Given the description of an element on the screen output the (x, y) to click on. 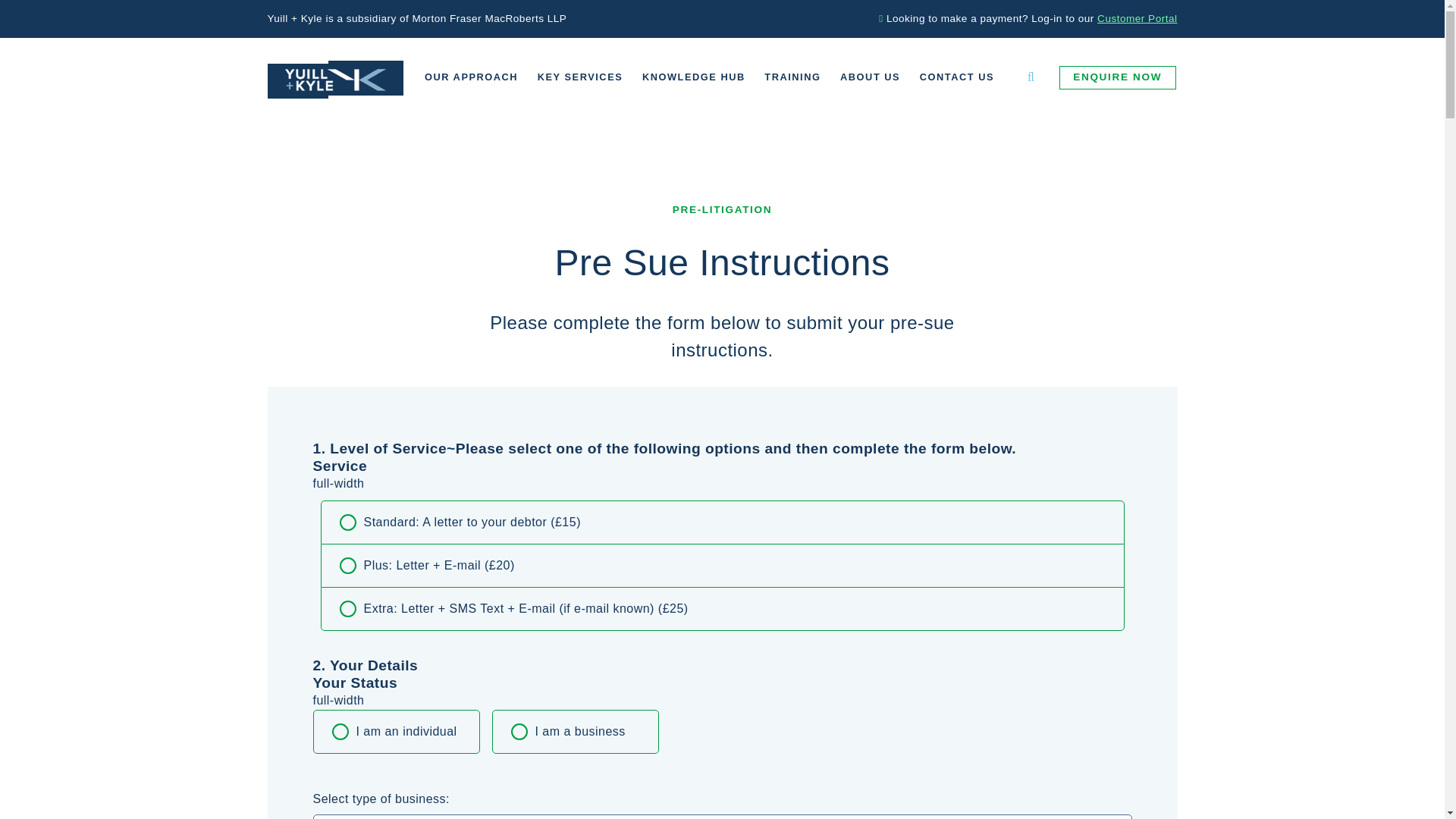
Customer Portal (1136, 18)
OUR APPROACH (470, 77)
TRAINING (793, 77)
ABOUT US (869, 77)
KNOWLEDGE HUB (692, 77)
KEY SERVICES (579, 77)
CONTACT US (957, 77)
ENQUIRE NOW (1117, 77)
